Given the description of an element on the screen output the (x, y) to click on. 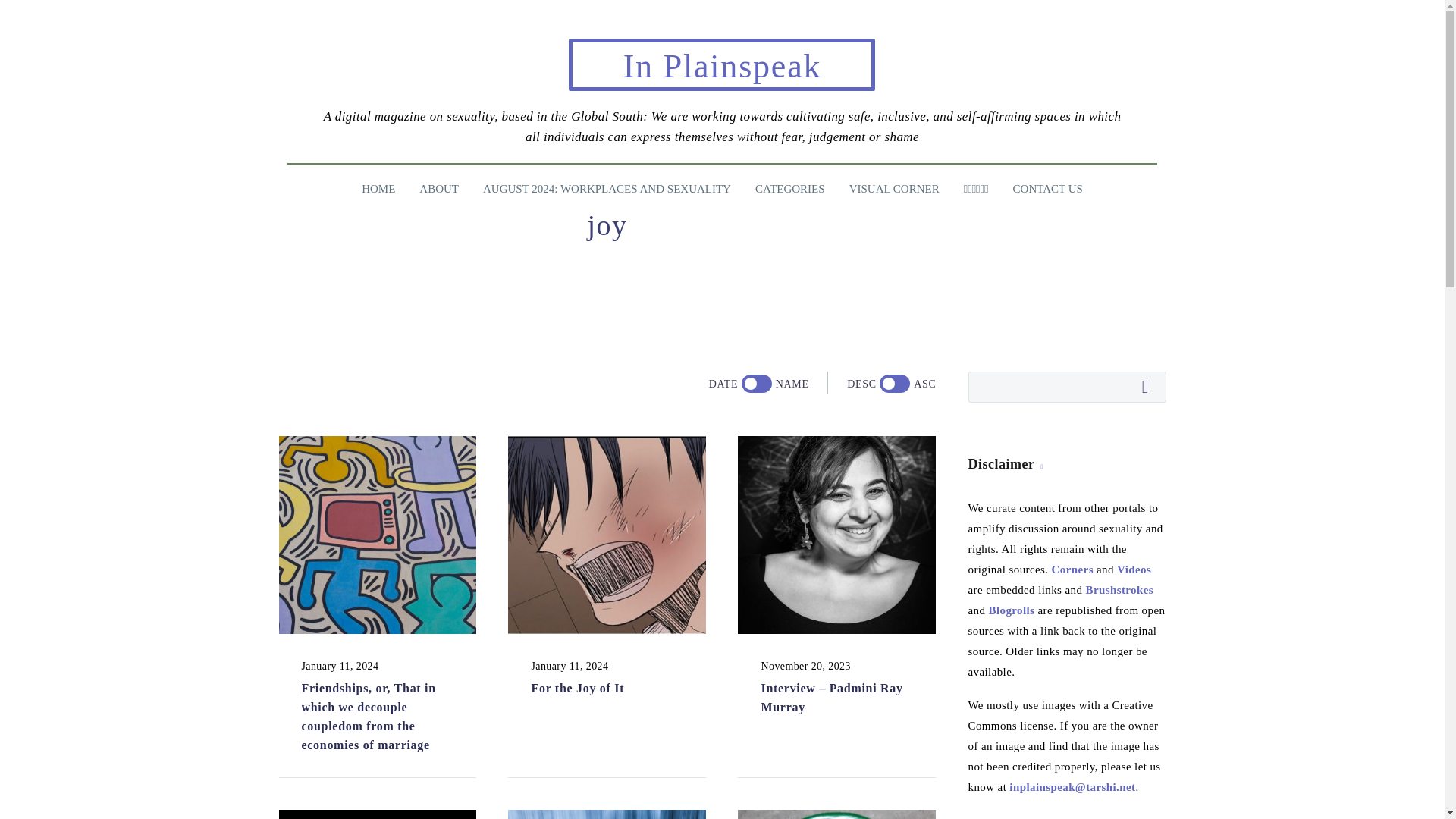
CONTACT US (1047, 188)
HOME (378, 188)
AUGUST 2024: WORKPLACES AND SEXUALITY (606, 188)
VISUAL CORNER (894, 188)
ABOUT (438, 188)
Monthly Issues (789, 188)
CATEGORIES (789, 188)
In Plainspeak (722, 66)
